Given the description of an element on the screen output the (x, y) to click on. 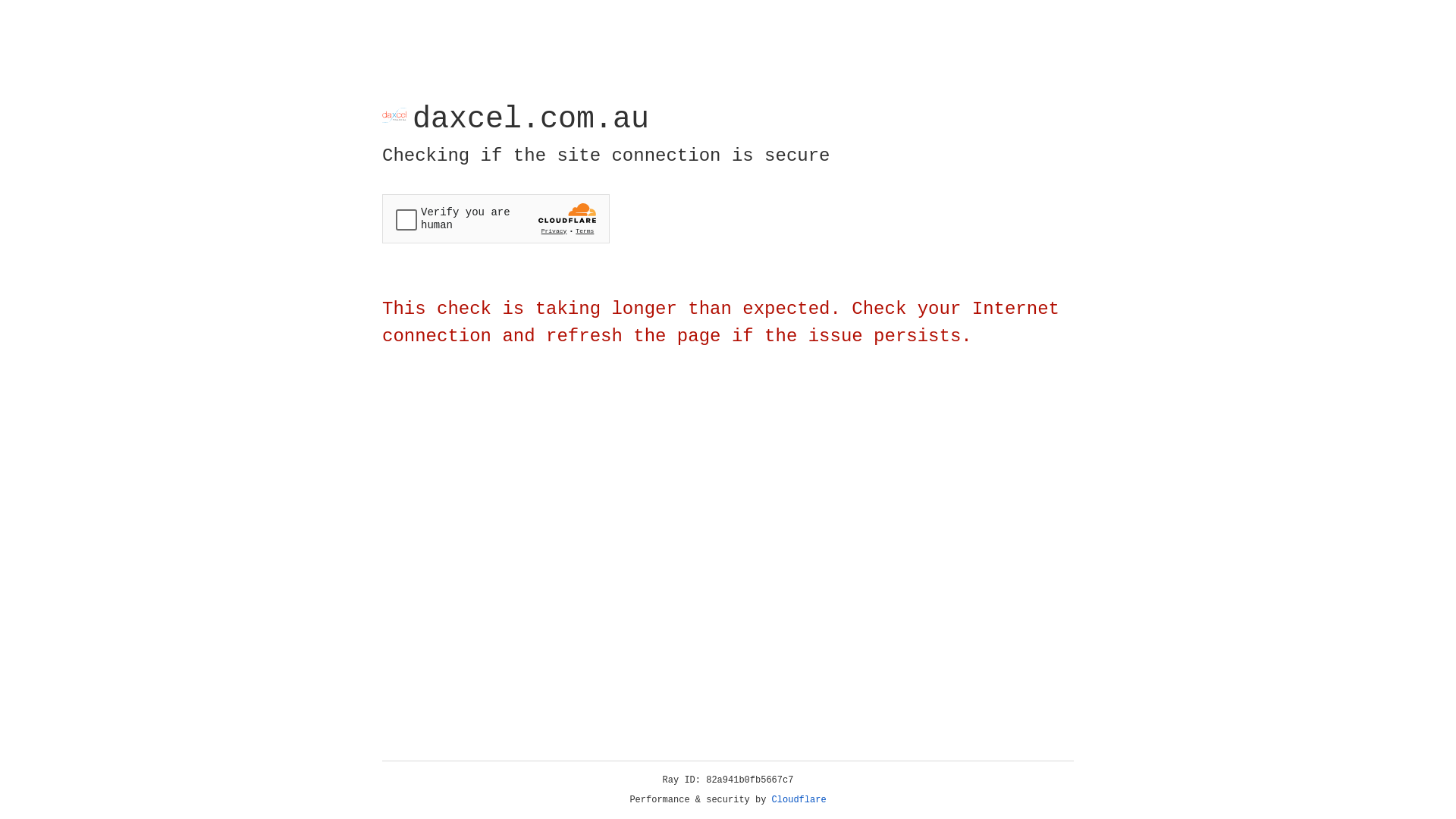
Cloudflare Element type: text (798, 799)
Widget containing a Cloudflare security challenge Element type: hover (495, 218)
